Given the description of an element on the screen output the (x, y) to click on. 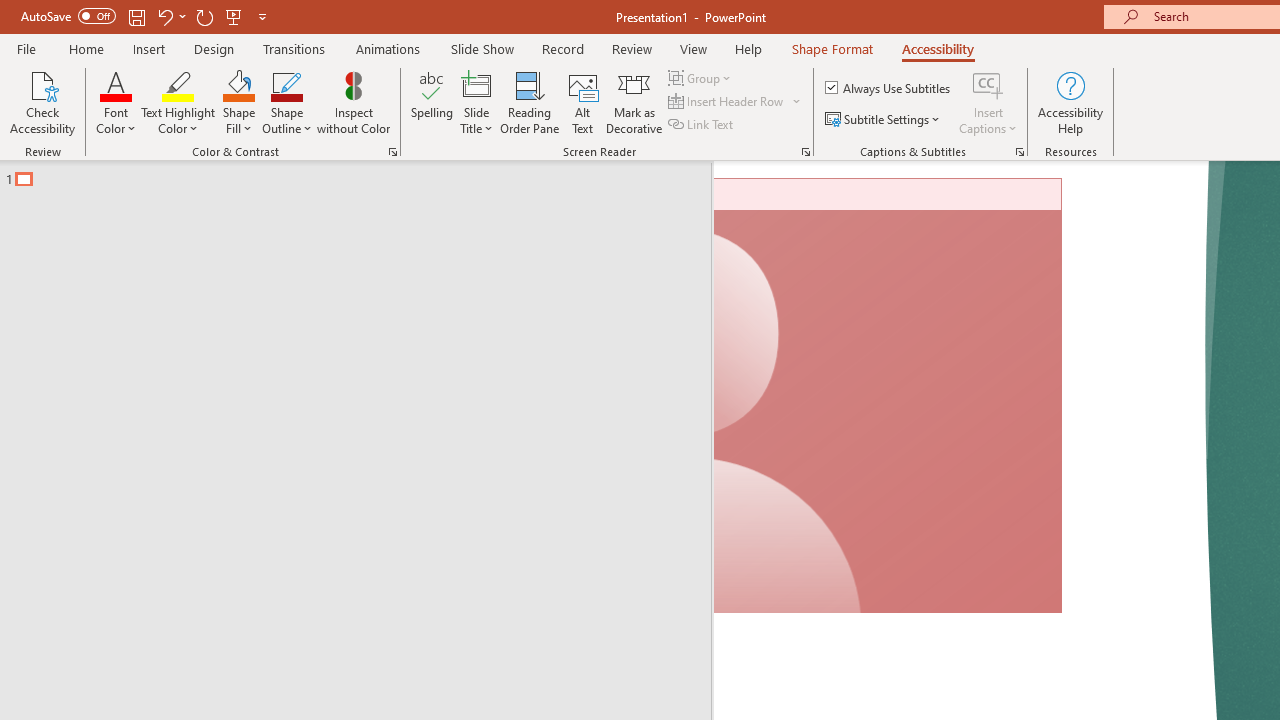
Insert Header Row (735, 101)
Slide Title (476, 84)
Link Text (702, 124)
Insert Captions (988, 102)
Outline (364, 174)
Mark as Decorative (634, 102)
